Given the description of an element on the screen output the (x, y) to click on. 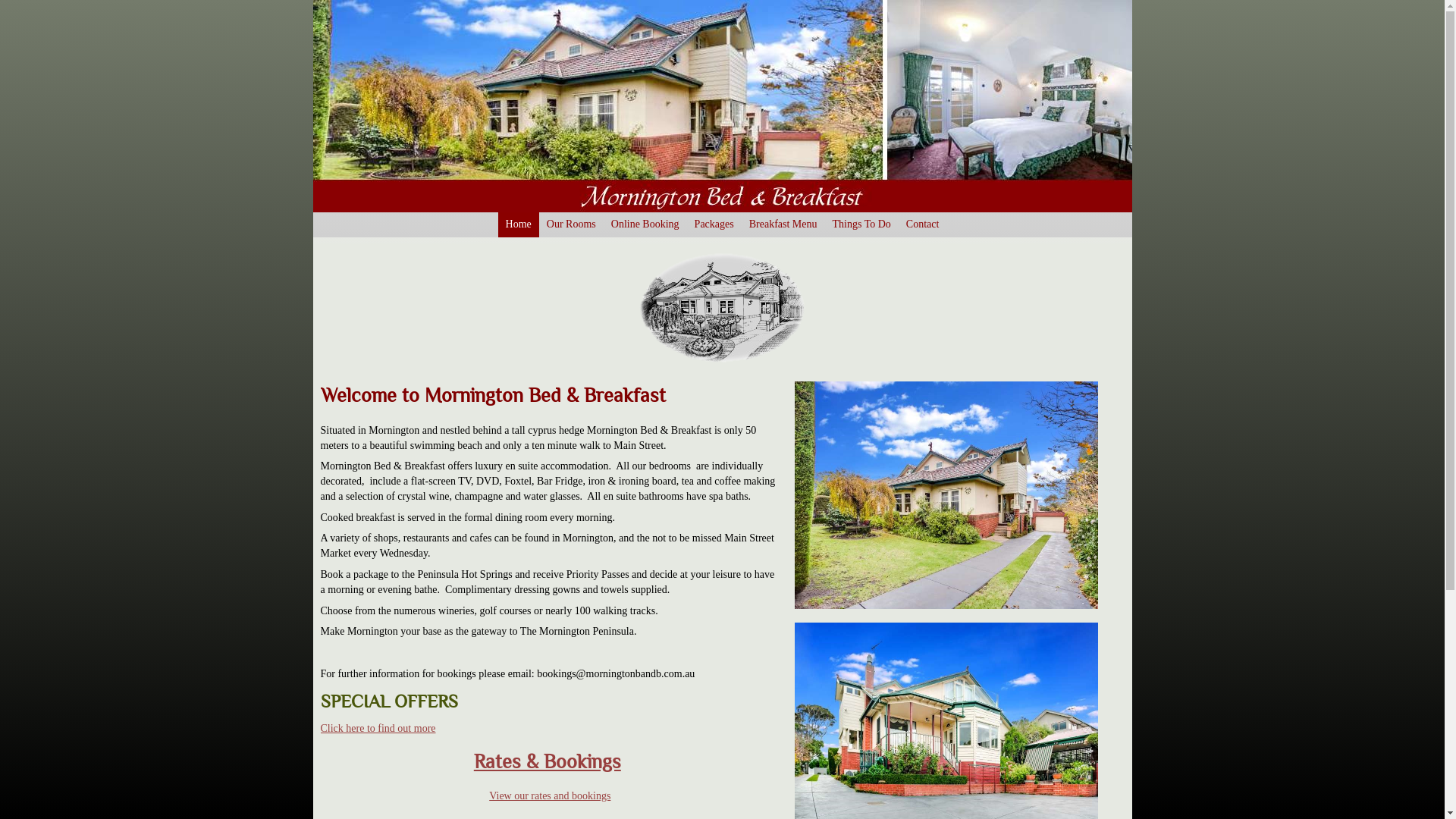
Things To Do Element type: text (861, 224)
Contact Element type: text (922, 224)
View our rates and bookings Element type: text (549, 795)
Rates & Bookings Element type: text (547, 761)
Packages Element type: text (714, 224)
Our Rooms Element type: text (571, 224)
Online Booking Element type: text (645, 224)
Home Element type: text (518, 224)
Click here to find out more Element type: text (377, 728)
Breakfast Menu Element type: text (783, 224)
Mornington Bed and Breakfast Element type: hover (946, 494)
